Given the description of an element on the screen output the (x, y) to click on. 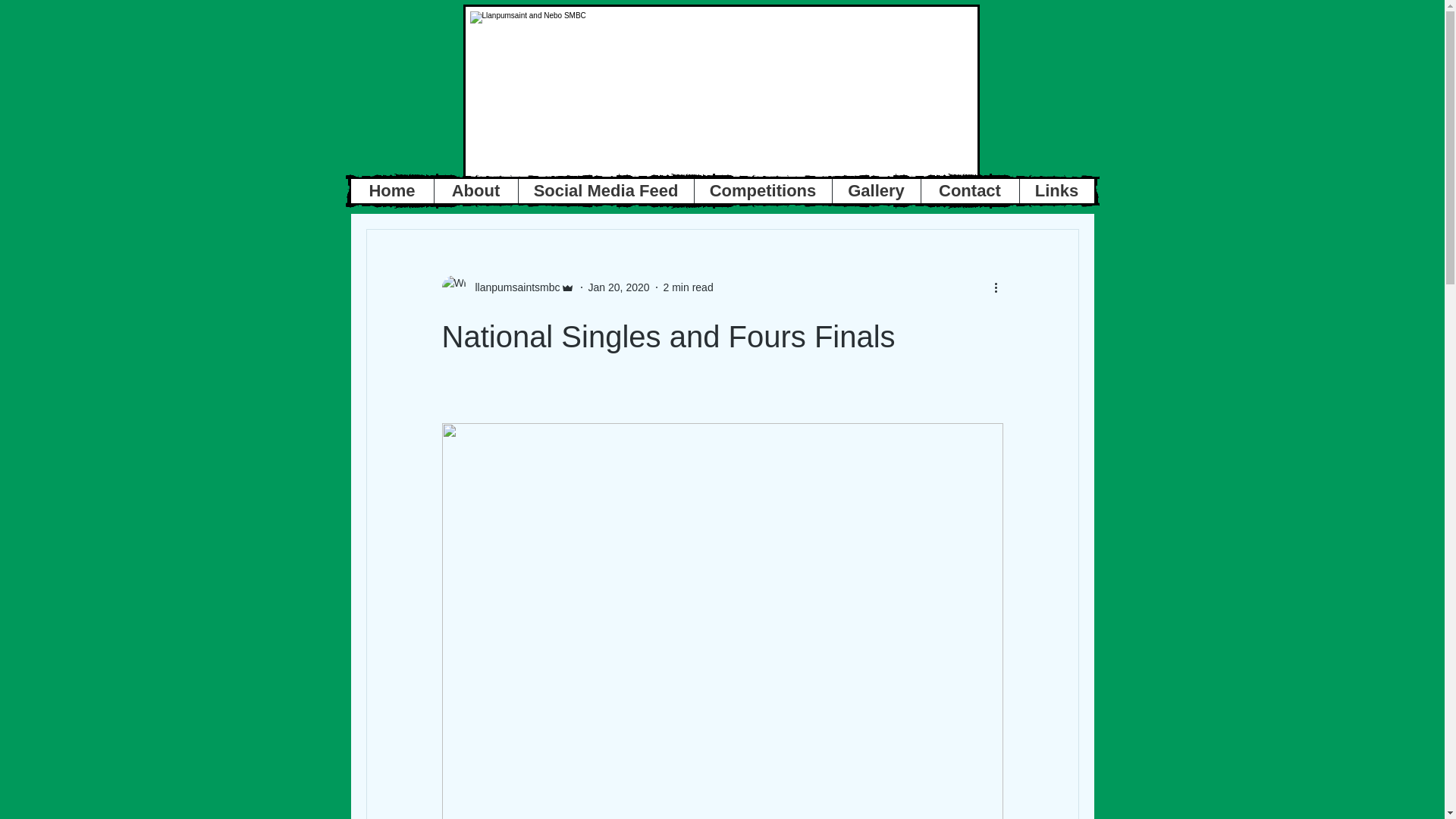
Jan 20, 2020 (618, 286)
Links (1056, 191)
llanpumsaintsmbc (512, 286)
Contact (969, 191)
Home (391, 191)
About (475, 191)
Social Media Feed (604, 191)
Gallery (875, 191)
2 min read (688, 286)
